Given the description of an element on the screen output the (x, y) to click on. 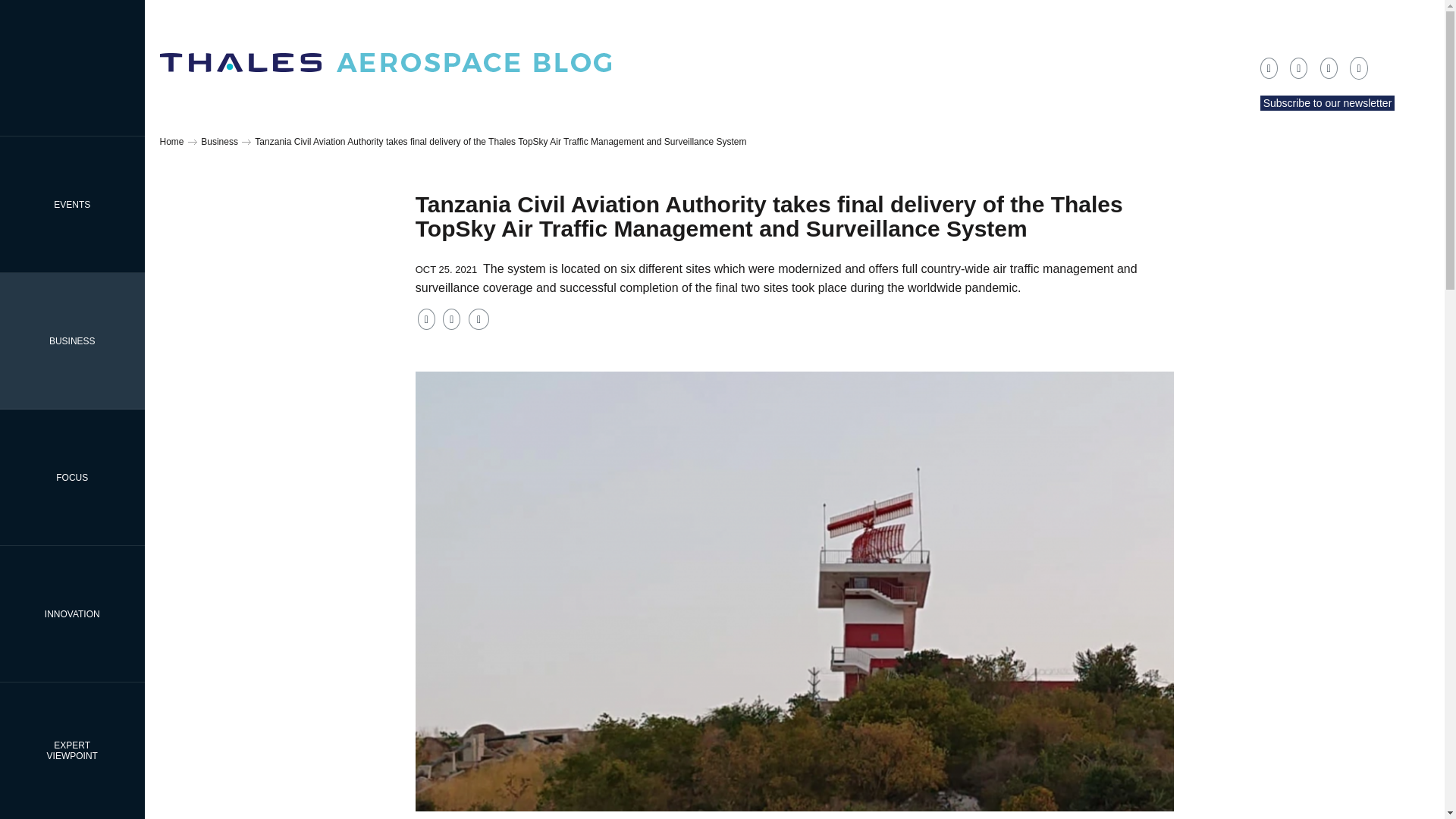
Subscribe to our newsletter (1327, 102)
FOCUS (72, 477)
BUSINESS (72, 750)
INNOVATION (72, 340)
EVENTS (72, 613)
Business (72, 203)
Home (219, 141)
